Given the description of an element on the screen output the (x, y) to click on. 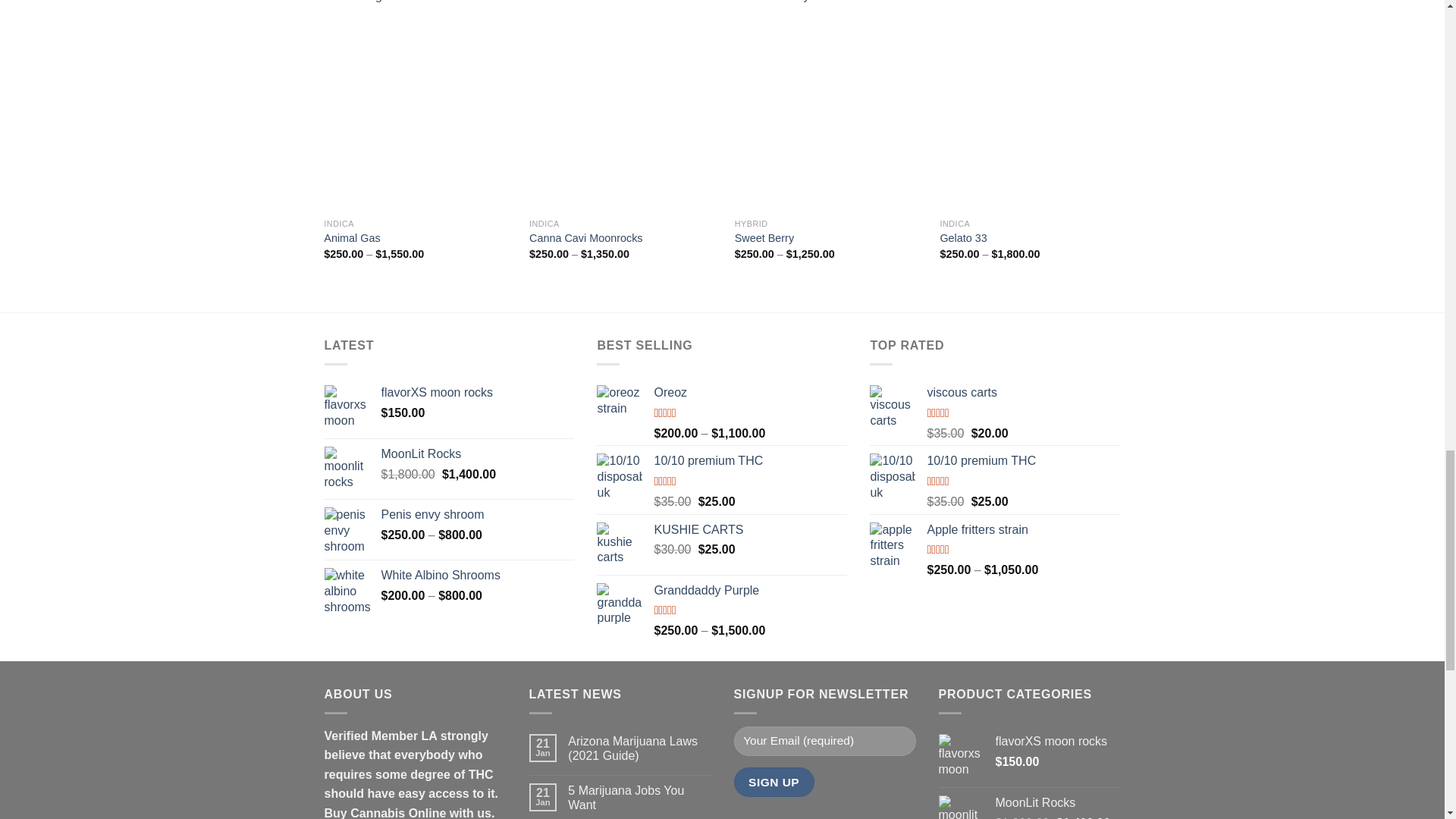
Sign Up (773, 781)
